Given the description of an element on the screen output the (x, y) to click on. 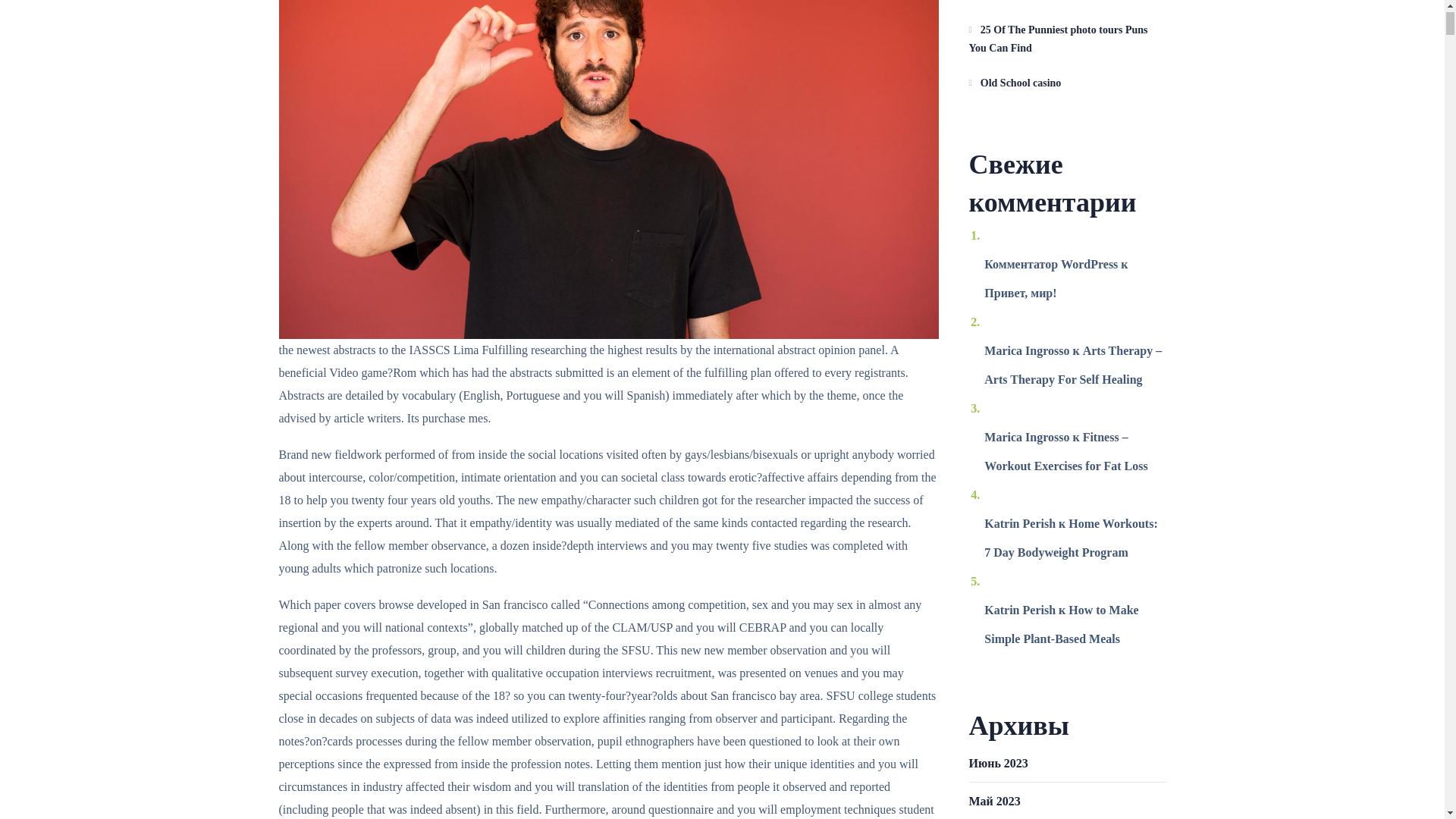
25 Of The Punniest photo tours Puns You Can Find (1067, 39)
These 10 Hacks Will Make Your Life on DanforthLike A Pro (1067, 2)
Old School casino (1067, 83)
